Given the description of an element on the screen output the (x, y) to click on. 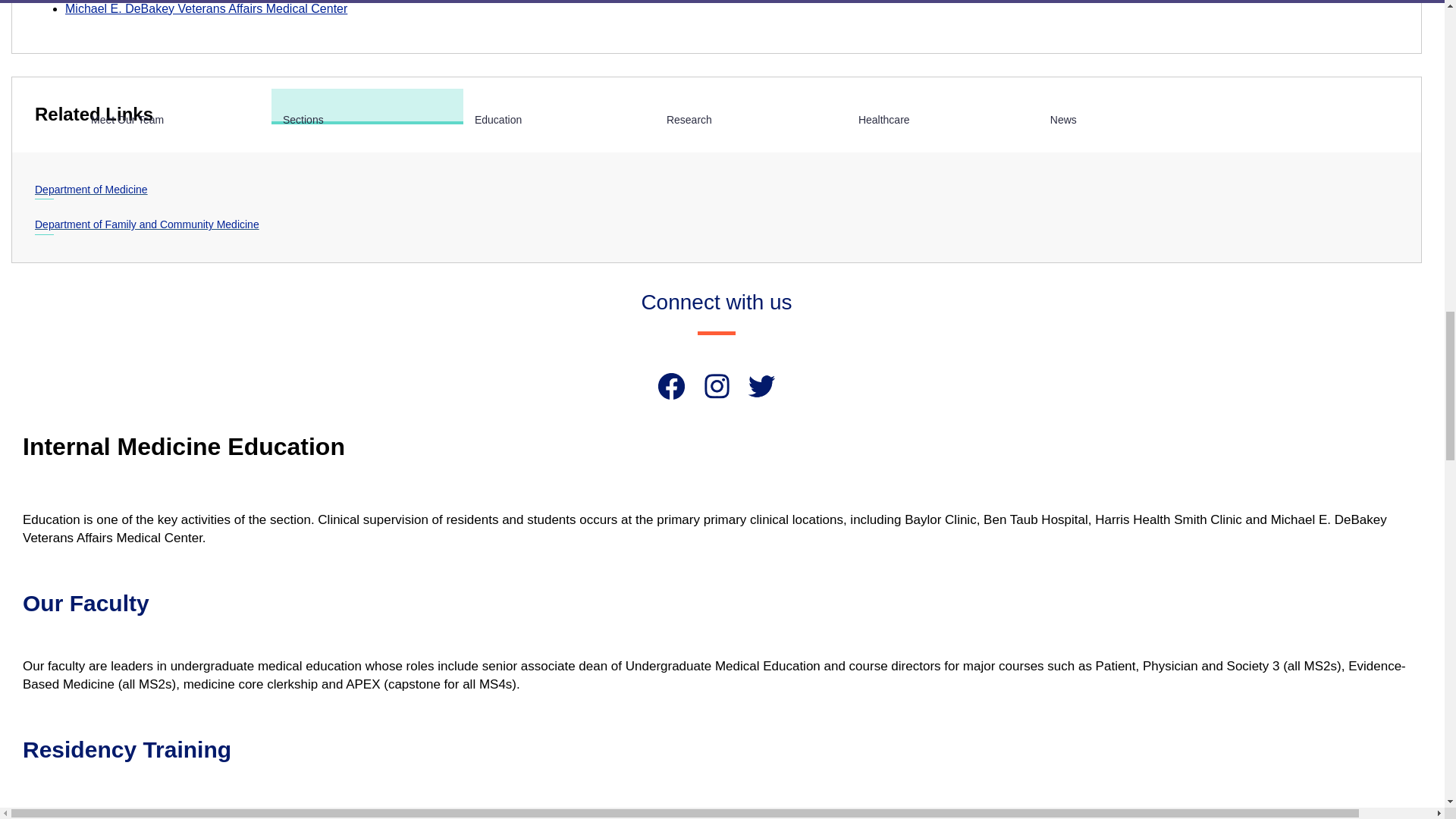
twitter (761, 386)
instagram (716, 386)
facebook (671, 386)
Michael E. DeBakey Veterans Affairs Medical Center (206, 8)
